Given the description of an element on the screen output the (x, y) to click on. 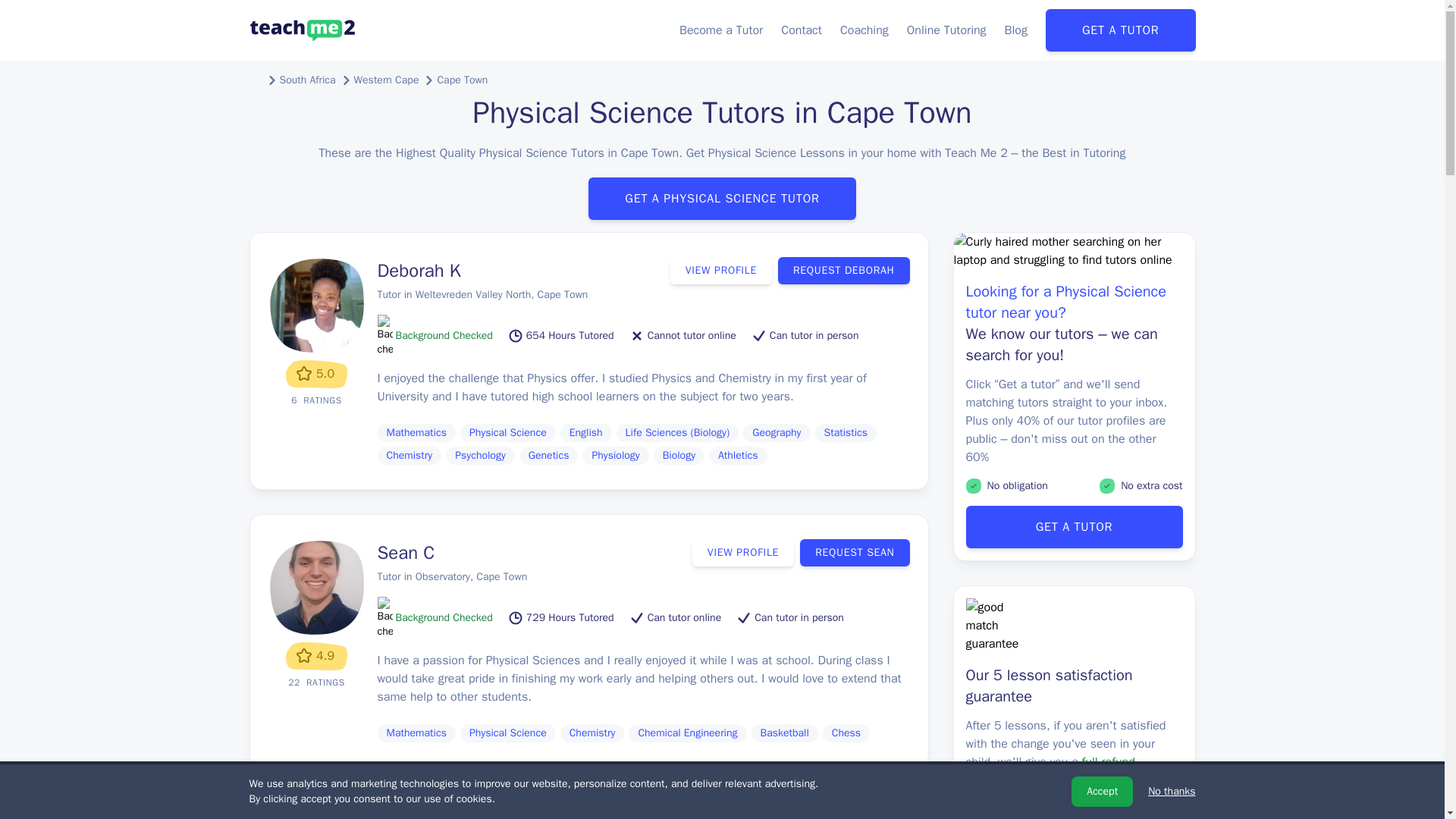
VIEW PROFILE (726, 817)
GET A TUTOR (1120, 30)
South Africa (306, 79)
Become a Tutor (720, 29)
Blog (1015, 29)
Online Tutoring (947, 29)
Deborah K (419, 270)
Cape Town (461, 79)
Sean C (406, 552)
Western Cape (386, 79)
